Given the description of an element on the screen output the (x, y) to click on. 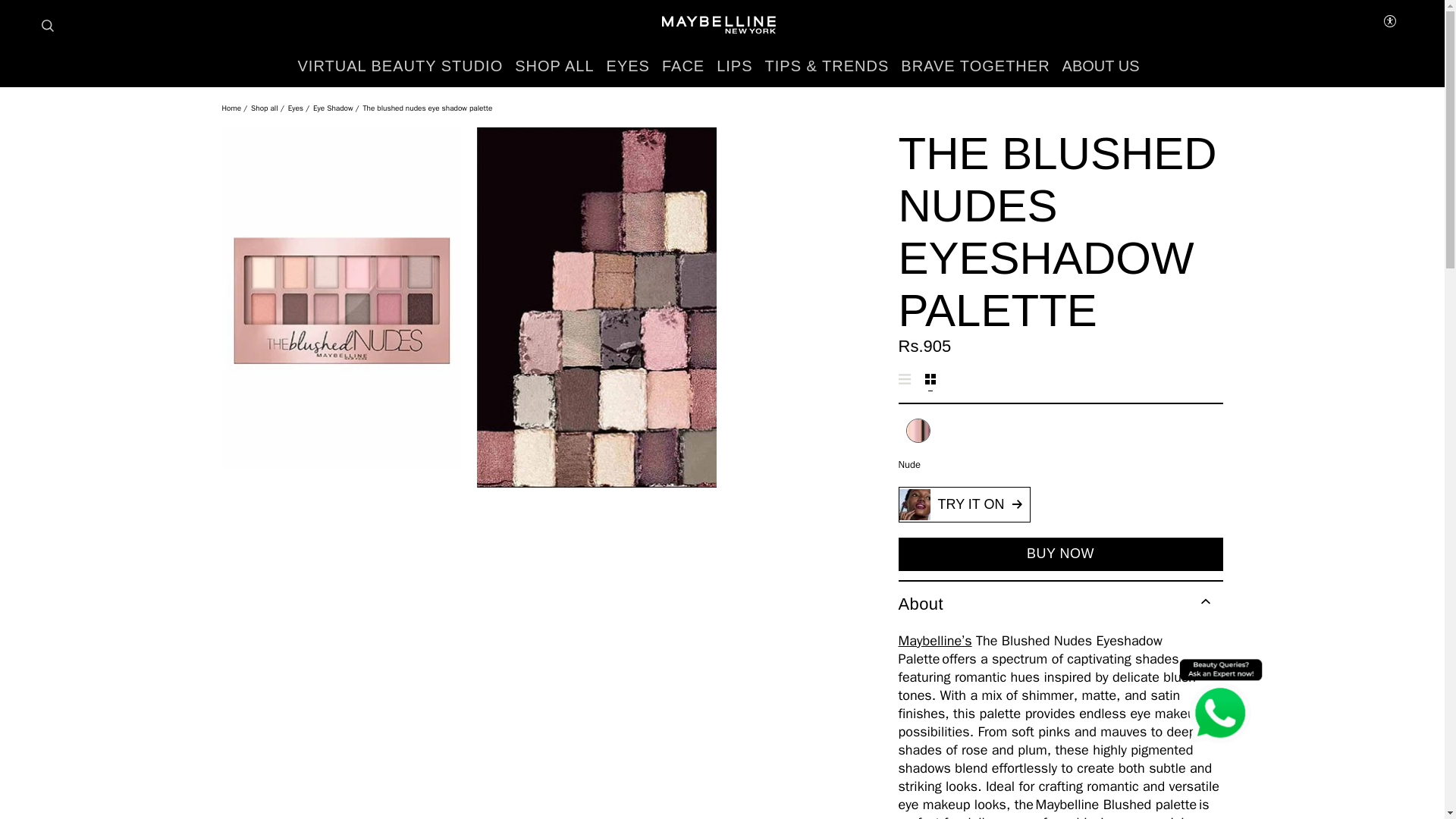
SHOP ALL (554, 66)
LIPS (734, 66)
VIRTUAL BEAUTY STUDIO (400, 66)
EYES (628, 66)
FACE (683, 66)
